Given the description of an element on the screen output the (x, y) to click on. 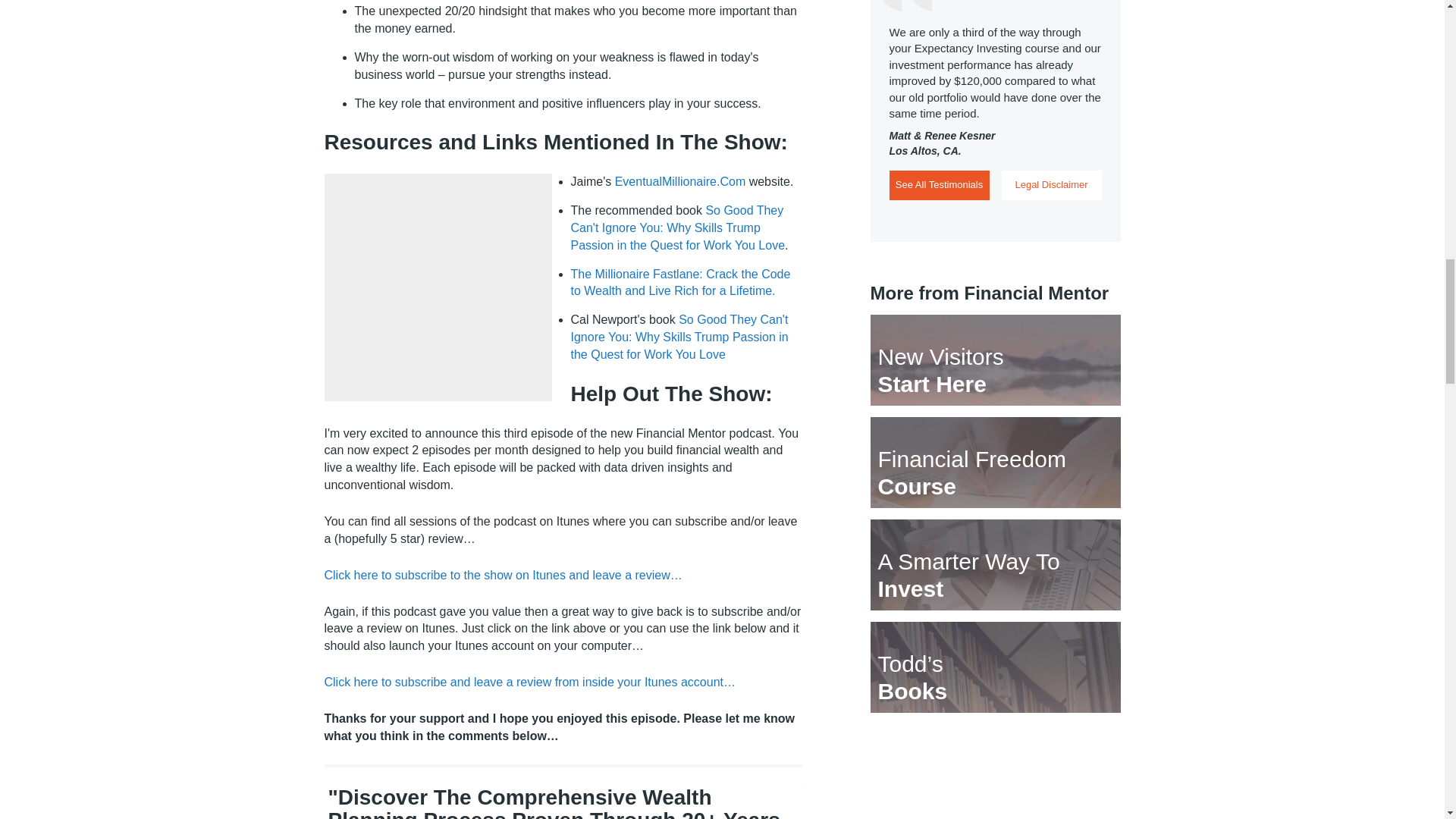
Subscribe to the Financial Mentor Podcast (529, 681)
EventualMillionaire.Com (679, 181)
Subscribe to the Financial Mentor Podcast (503, 574)
How To Build Wealth (679, 181)
